Given the description of an element on the screen output the (x, y) to click on. 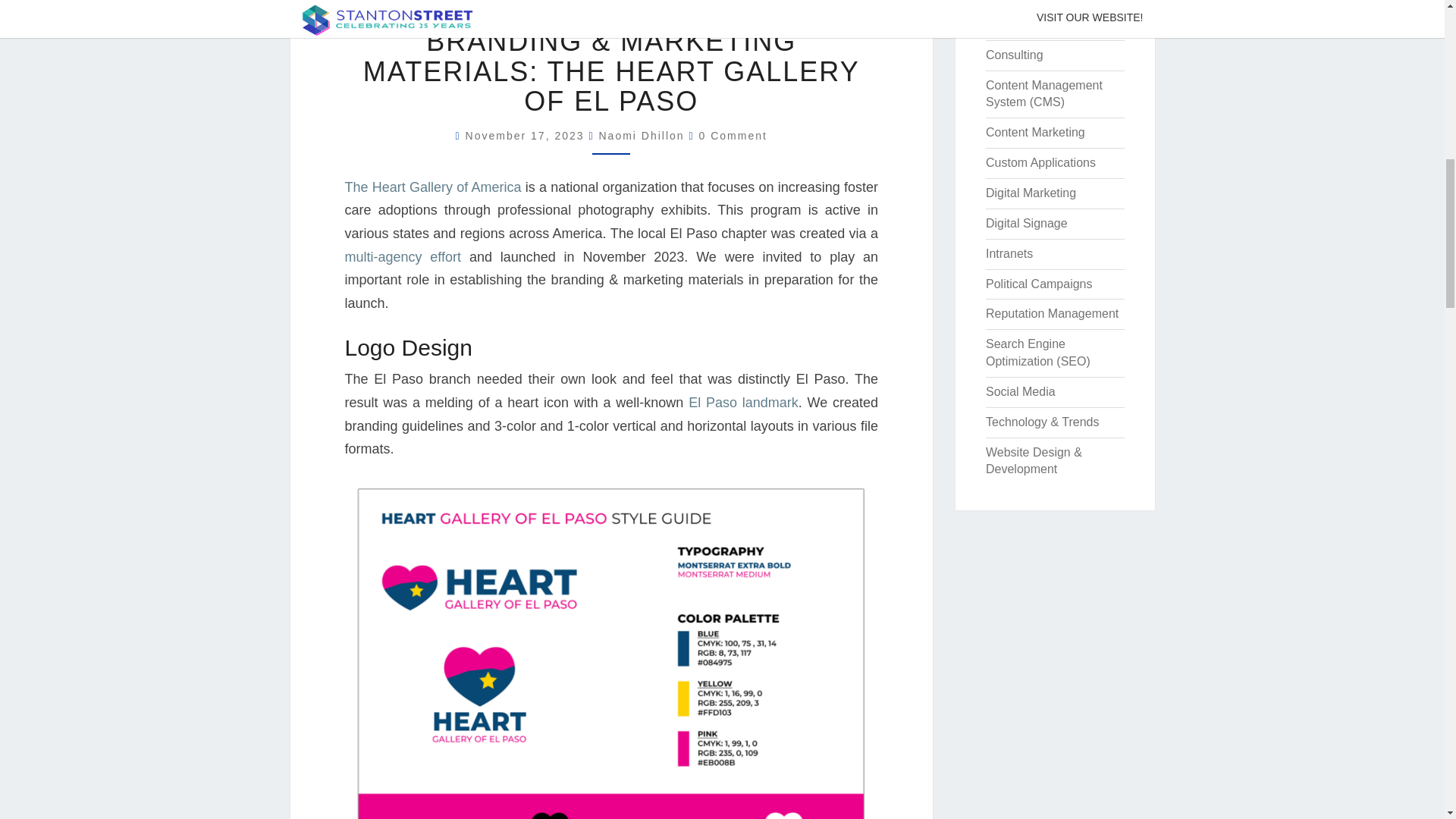
November 17, 2023 (527, 135)
multi-agency effort (402, 256)
View all posts by Naomi Dhillon (641, 135)
The Heart Gallery of America (432, 186)
0 Comment (732, 135)
3:18 pm (527, 135)
El Paso landmark (742, 402)
Naomi Dhillon (641, 135)
